Given the description of an element on the screen output the (x, y) to click on. 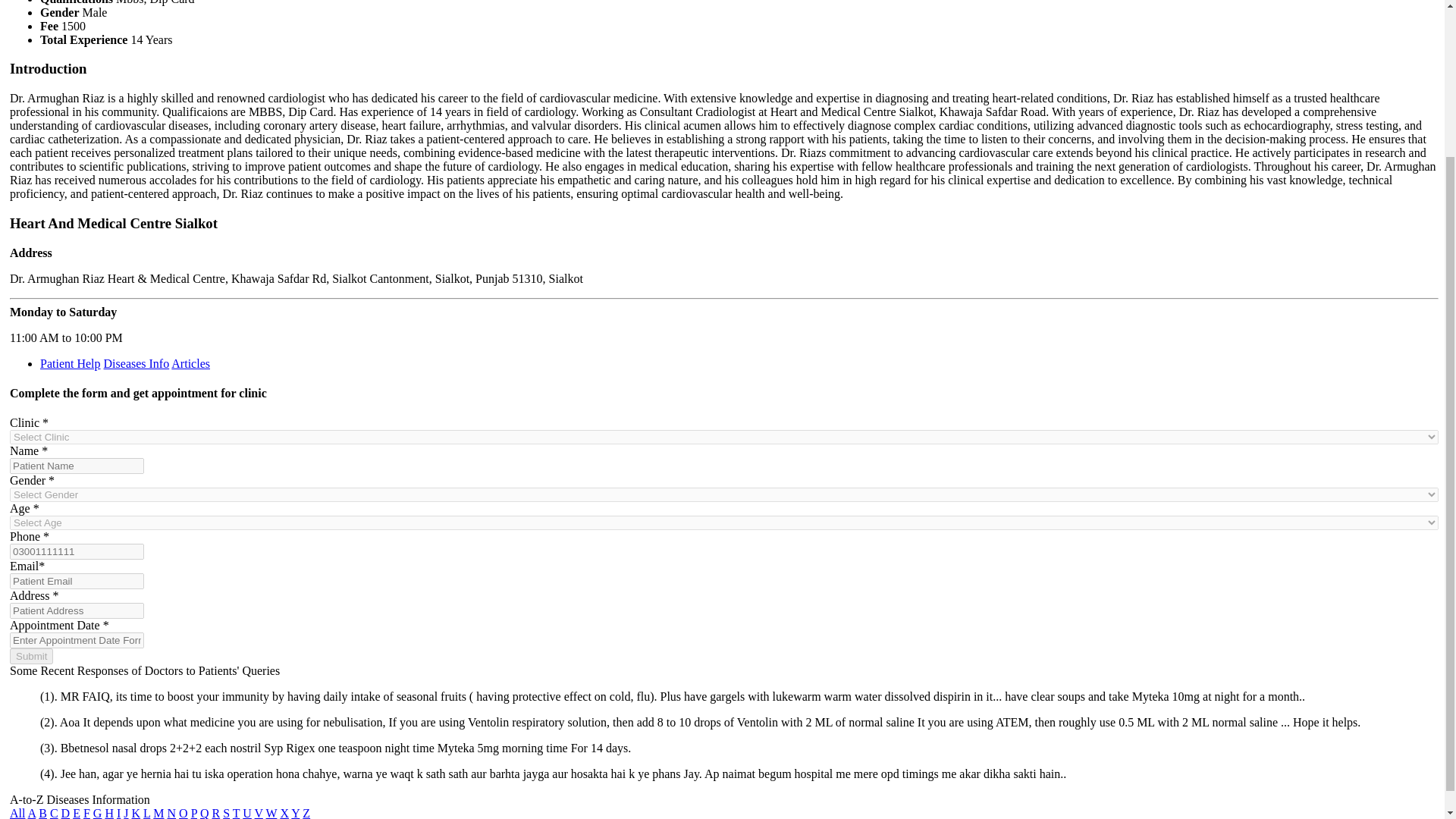
Diseases Info (136, 362)
Submit (31, 656)
Patient Help (70, 362)
Articles (190, 362)
